Given the description of an element on the screen output the (x, y) to click on. 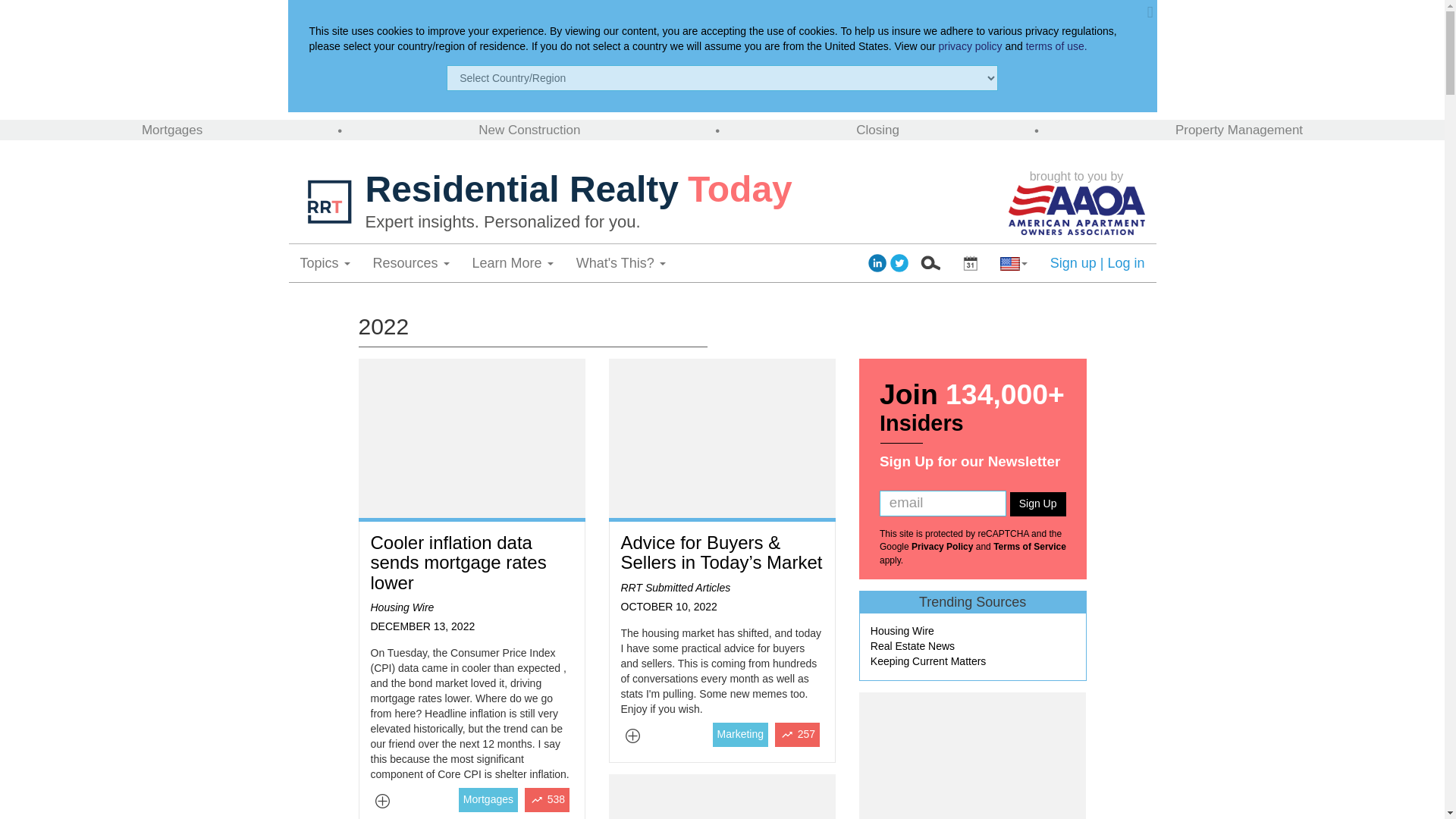
Mortgages (171, 129)
Property Management (1238, 129)
terms of use. (1056, 46)
Residential Realty Today (683, 189)
Property Management (1238, 129)
Search (930, 262)
Mortgages (171, 129)
American Apartment Owners Association (1076, 210)
New Construction (529, 129)
Closing (877, 129)
